Given the description of an element on the screen output the (x, y) to click on. 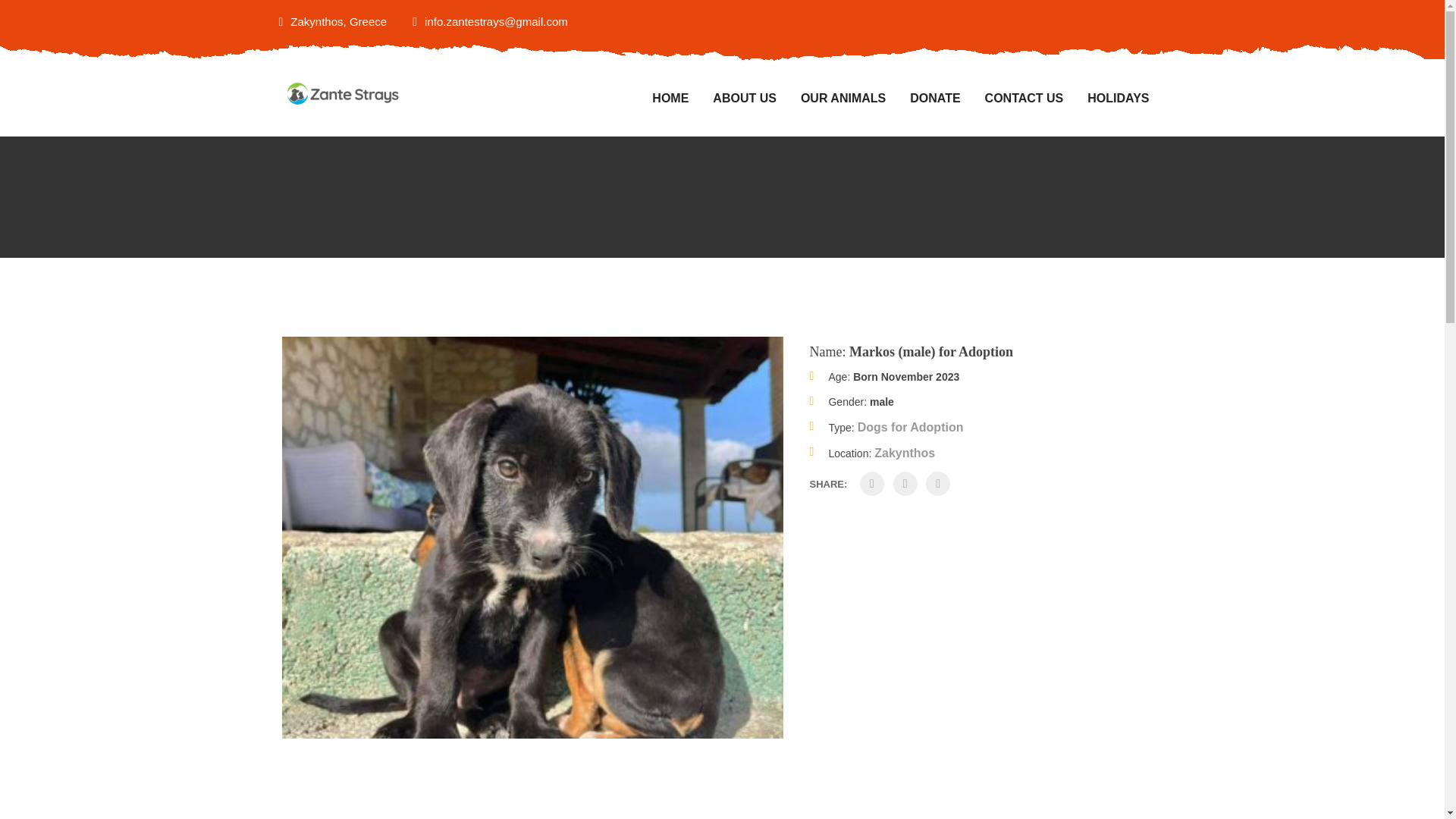
Zakynthos (904, 452)
Dogs for Adoption (910, 427)
Share on Twitter (905, 483)
OUR ANIMALS (842, 98)
CONTACT US (1024, 98)
Share on Pinterest (938, 483)
Share on facebook (871, 483)
